Given the description of an element on the screen output the (x, y) to click on. 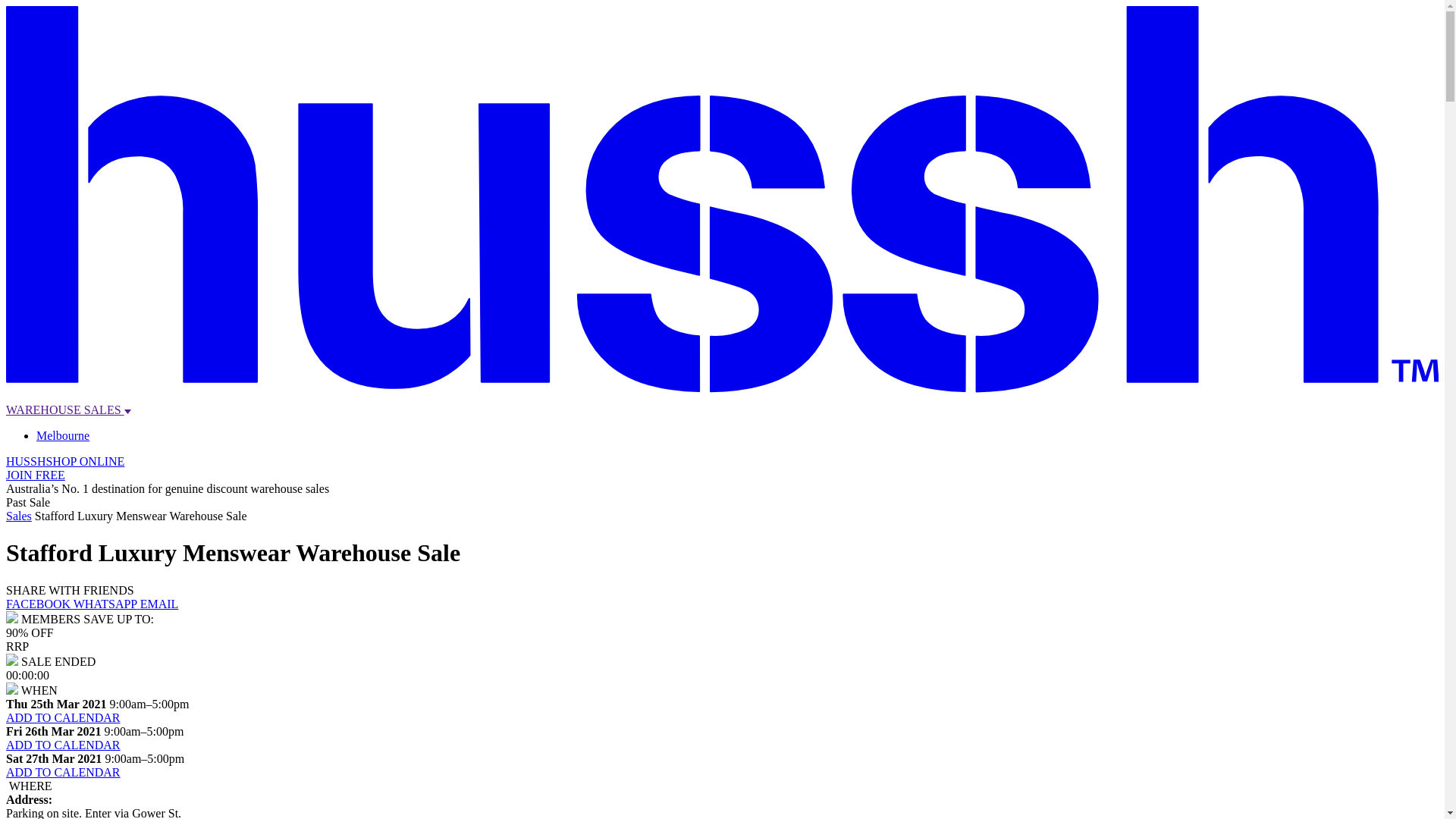
WAREHOUSE SALES Element type: text (68, 409)
ADD TO CALENDAR Element type: text (63, 771)
HUSSHSHOP ONLINE Element type: text (65, 461)
JOIN FREE Element type: text (35, 474)
Sales Element type: text (18, 515)
Melbourne Element type: text (62, 435)
FACEBOOK Element type: text (39, 603)
WHATSAPP Element type: text (106, 603)
ADD TO CALENDAR Element type: text (63, 717)
EMAIL Element type: text (159, 603)
ADD TO CALENDAR Element type: text (63, 744)
